Given the description of an element on the screen output the (x, y) to click on. 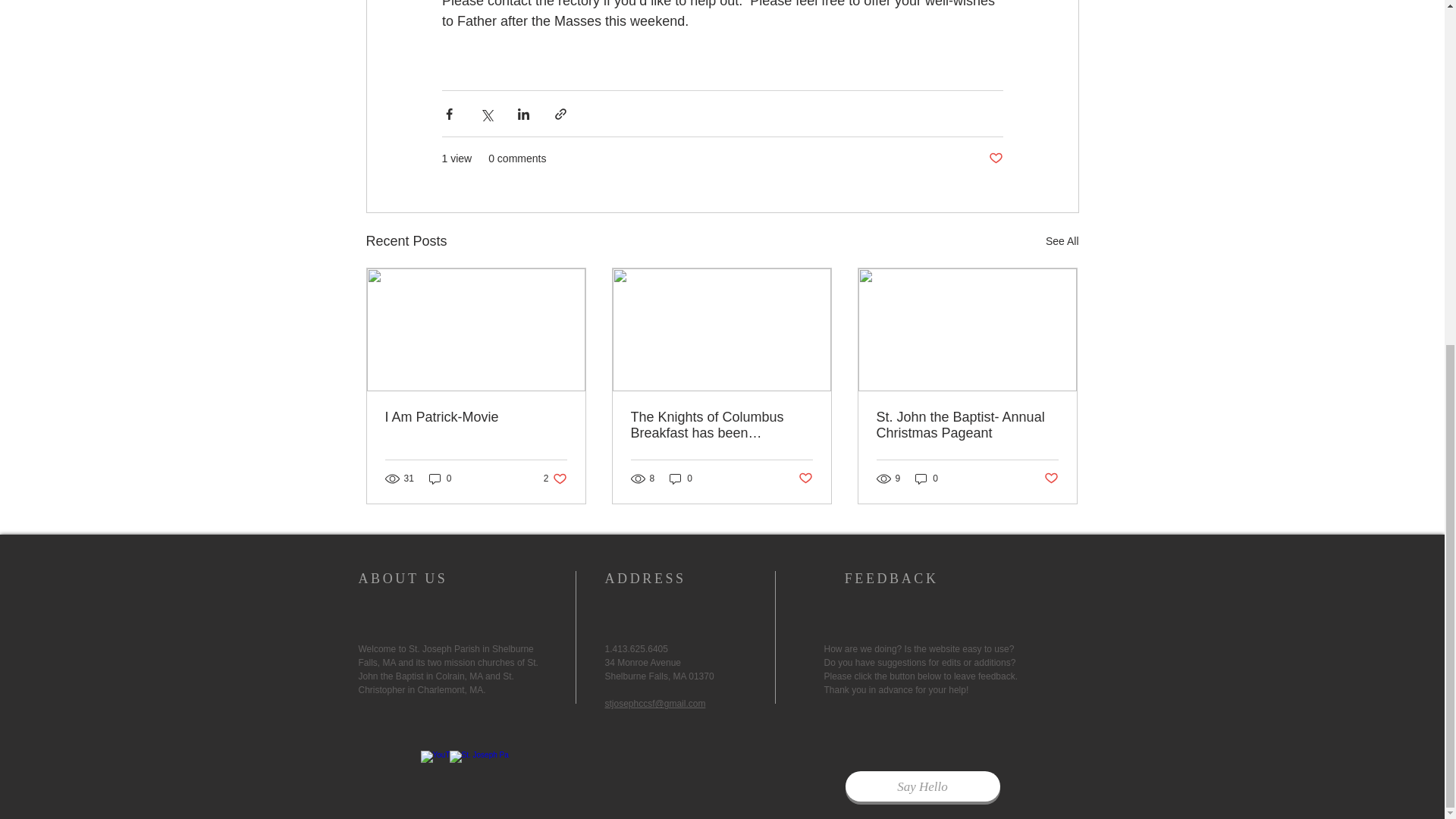
0 (440, 478)
The Knights of Columbus Breakfast has been postponed! (721, 425)
I Am Patrick-Movie (476, 417)
St. John the Baptist- Annual Christmas Pageant (967, 425)
0 (926, 478)
Post not marked as liked (995, 158)
See All (1061, 241)
Post not marked as liked (1050, 478)
Post not marked as liked (555, 478)
0 (804, 478)
